Given the description of an element on the screen output the (x, y) to click on. 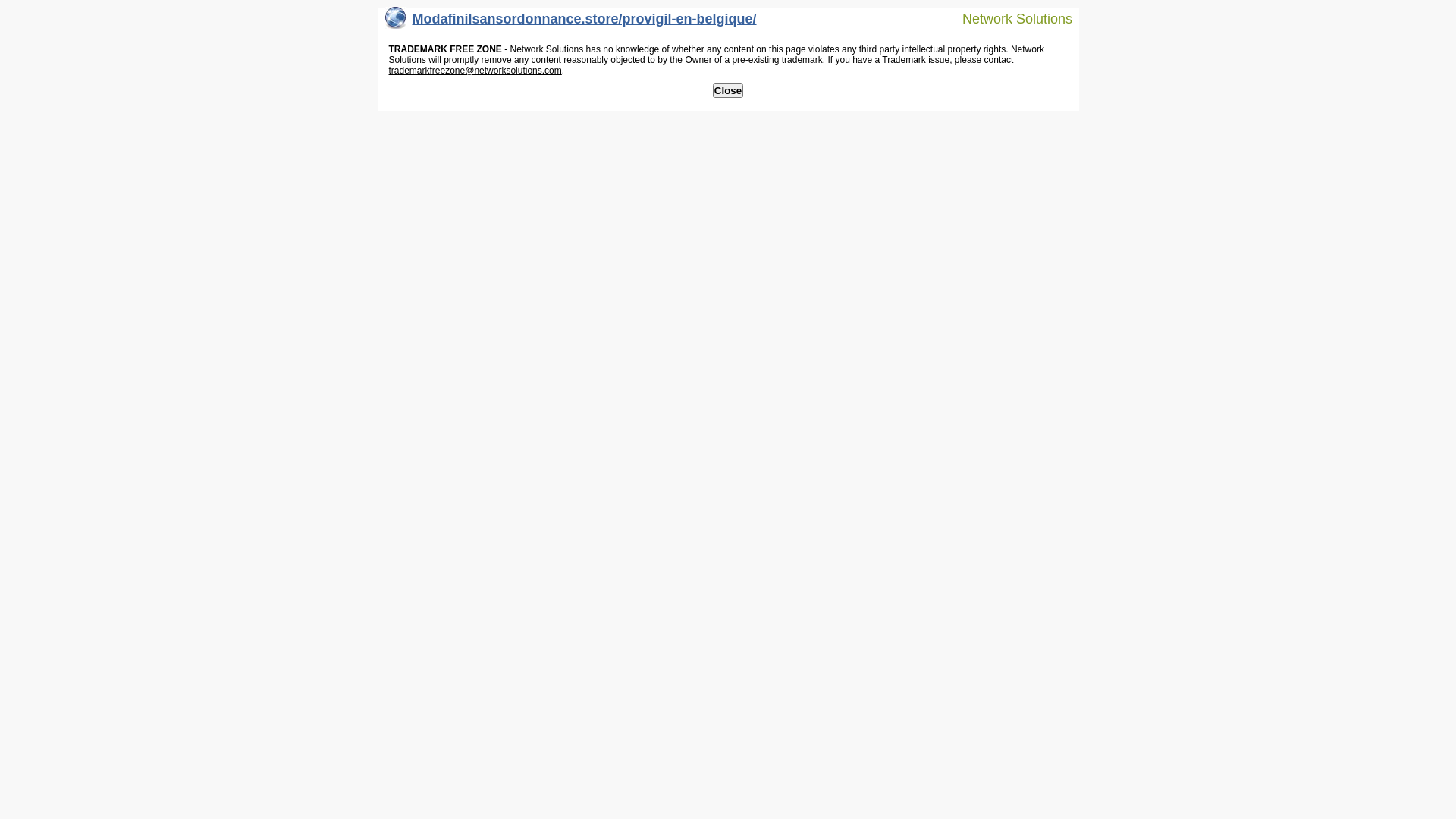
Close Element type: text (727, 90)
Modafinilsansordonnance.store/provigil-en-belgique/ Element type: text (570, 21)
trademarkfreezone@networksolutions.com Element type: text (474, 70)
Network Solutions Element type: text (1007, 17)
